Given the description of an element on the screen output the (x, y) to click on. 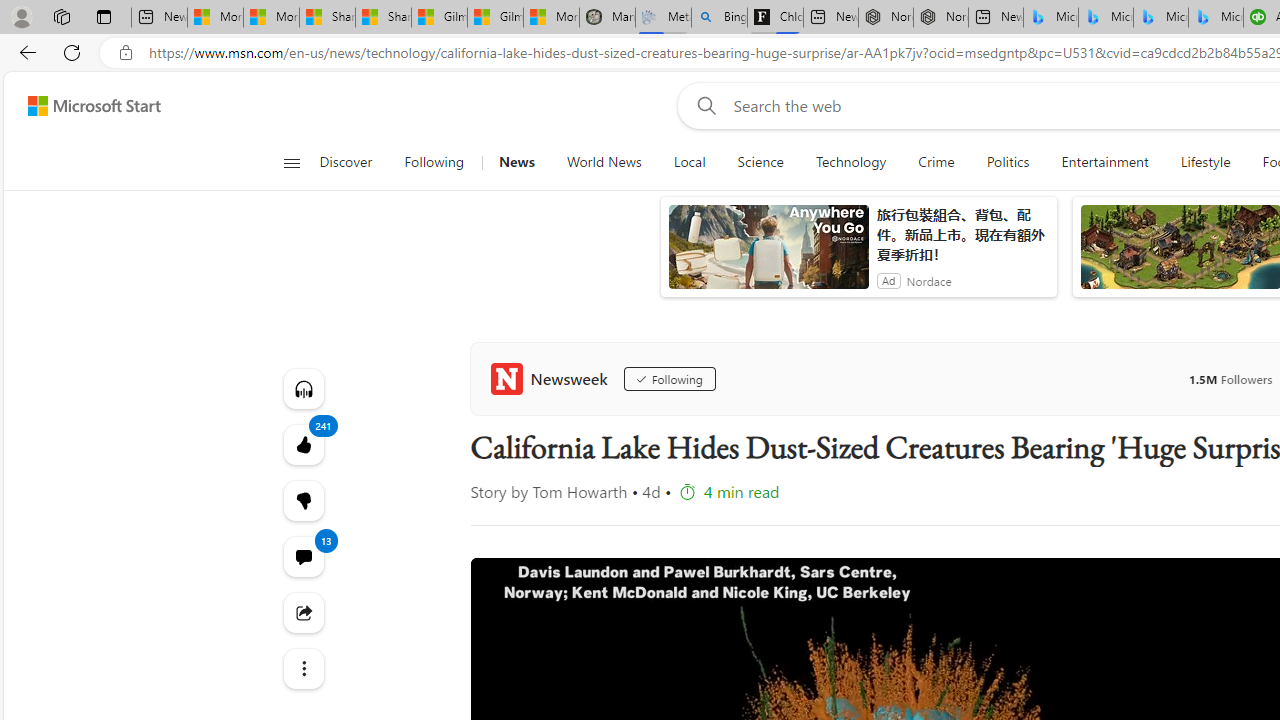
Politics (1007, 162)
Entertainment (1104, 162)
